Given the description of an element on the screen output the (x, y) to click on. 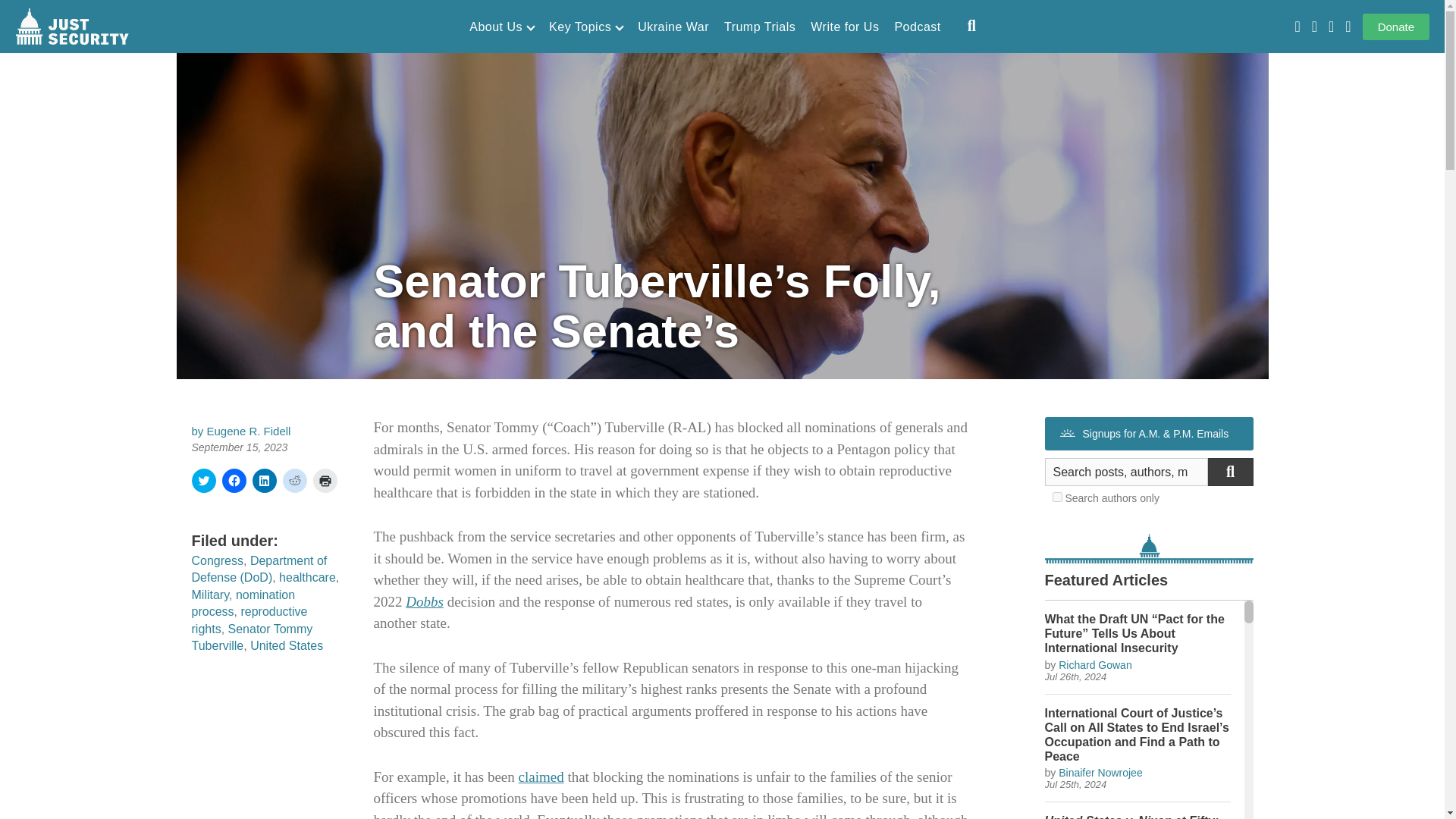
Click to print (324, 480)
Click to share on Twitter (202, 480)
Click to share on LinkedIn (263, 480)
Write for Us (844, 27)
on (1057, 497)
Donate (1395, 26)
Profile and articles by Eugene R. Fidell (248, 431)
Key Topics (585, 27)
Podcast (916, 27)
Ukraine War (673, 27)
Click to share on Reddit (293, 480)
Click to share on Facebook (233, 480)
About Us (501, 27)
Trump Trials (758, 27)
